Given the description of an element on the screen output the (x, y) to click on. 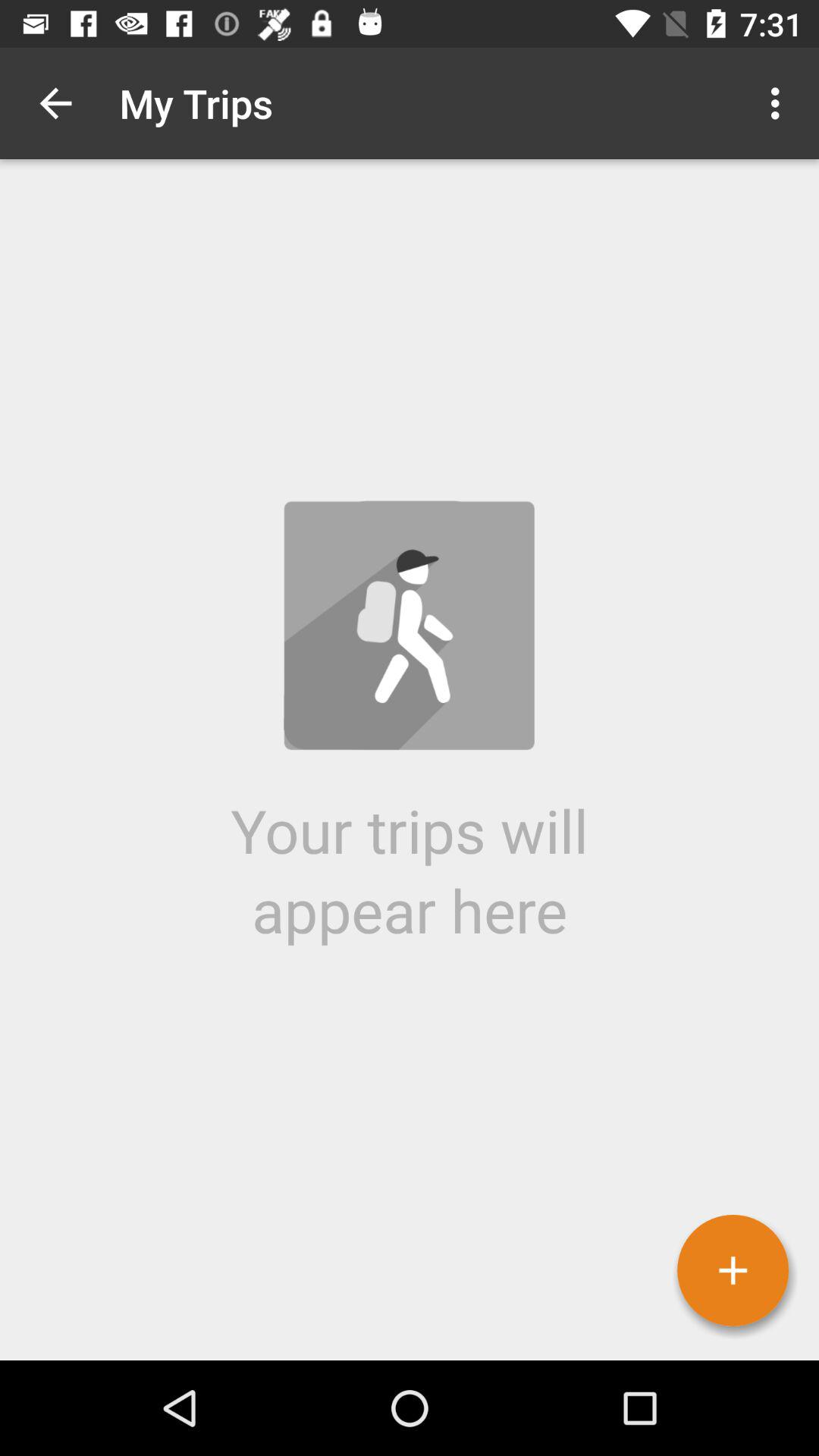
open icon to the left of the my trips icon (55, 103)
